Given the description of an element on the screen output the (x, y) to click on. 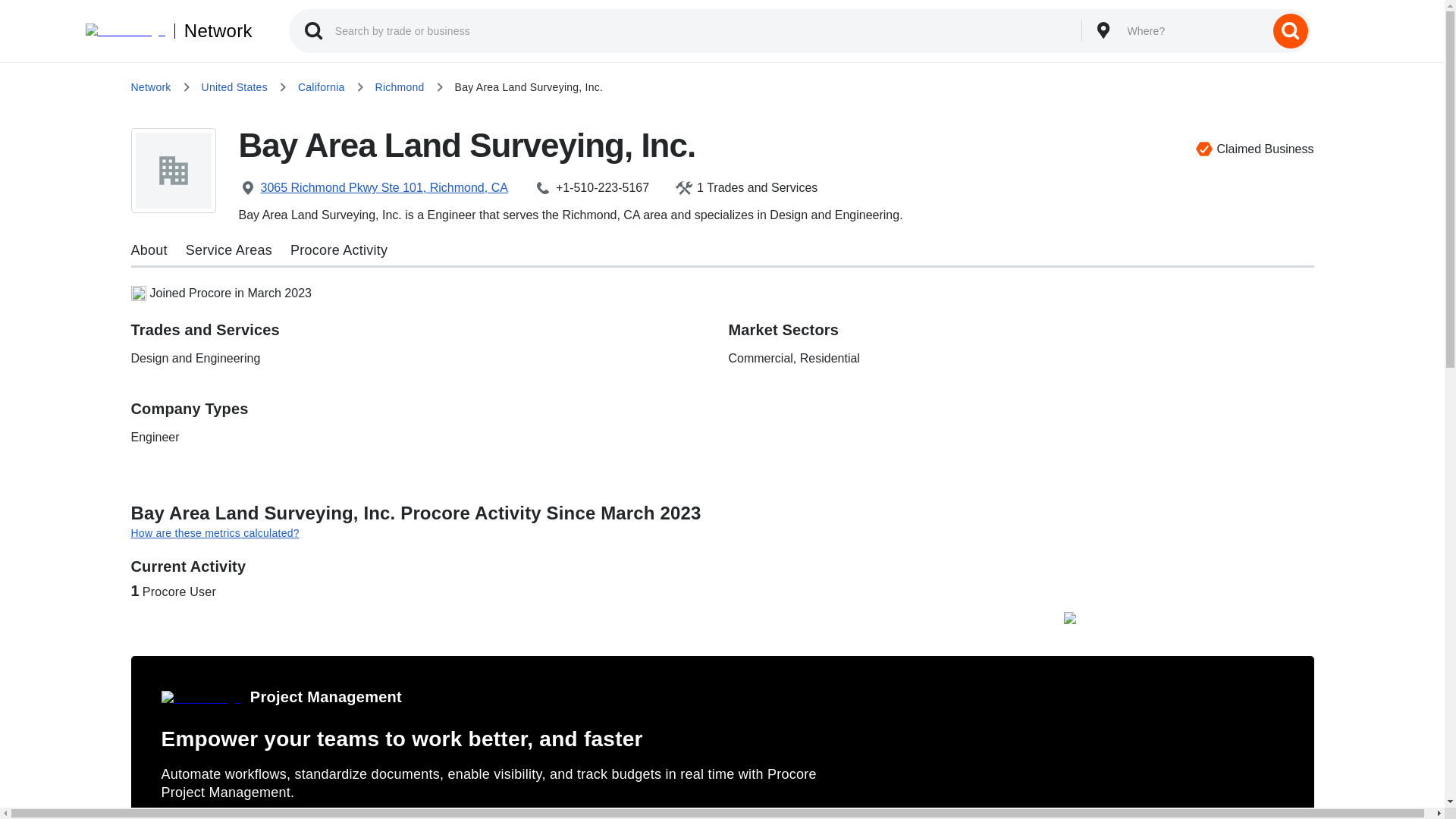
About (149, 249)
Procore Activity (338, 249)
Richmond (400, 87)
How are these metrics calculated? (722, 532)
Network (150, 87)
Network (212, 30)
United States (234, 87)
Learn more (212, 816)
3065 Richmond Pkwy Ste 101, Richmond, CA (385, 187)
California (321, 87)
Service Areas (229, 249)
